Given the description of an element on the screen output the (x, y) to click on. 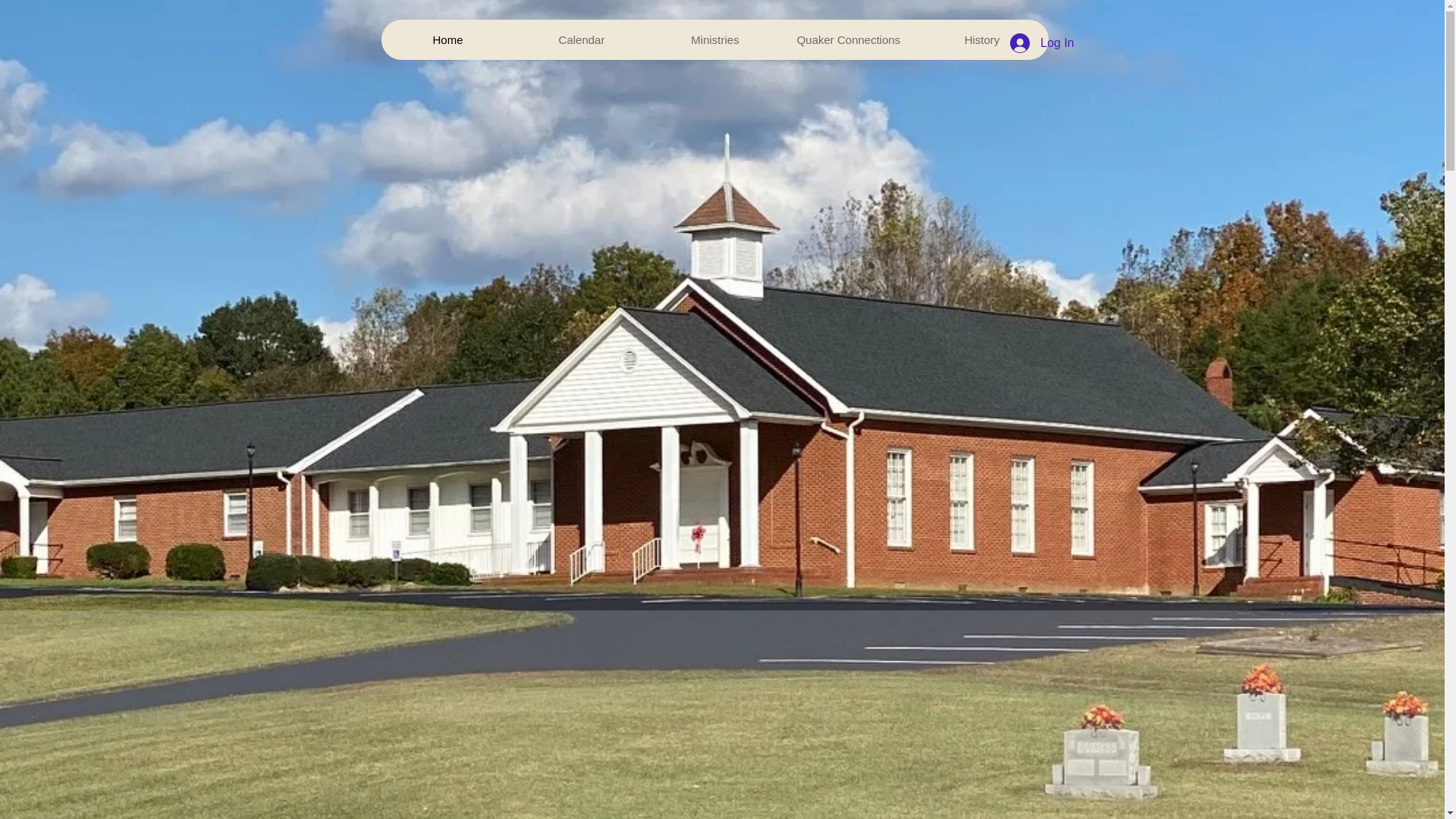
Calendar (580, 39)
Home (446, 39)
Log In (1041, 42)
Quaker Connections (847, 39)
History (981, 39)
